Given the description of an element on the screen output the (x, y) to click on. 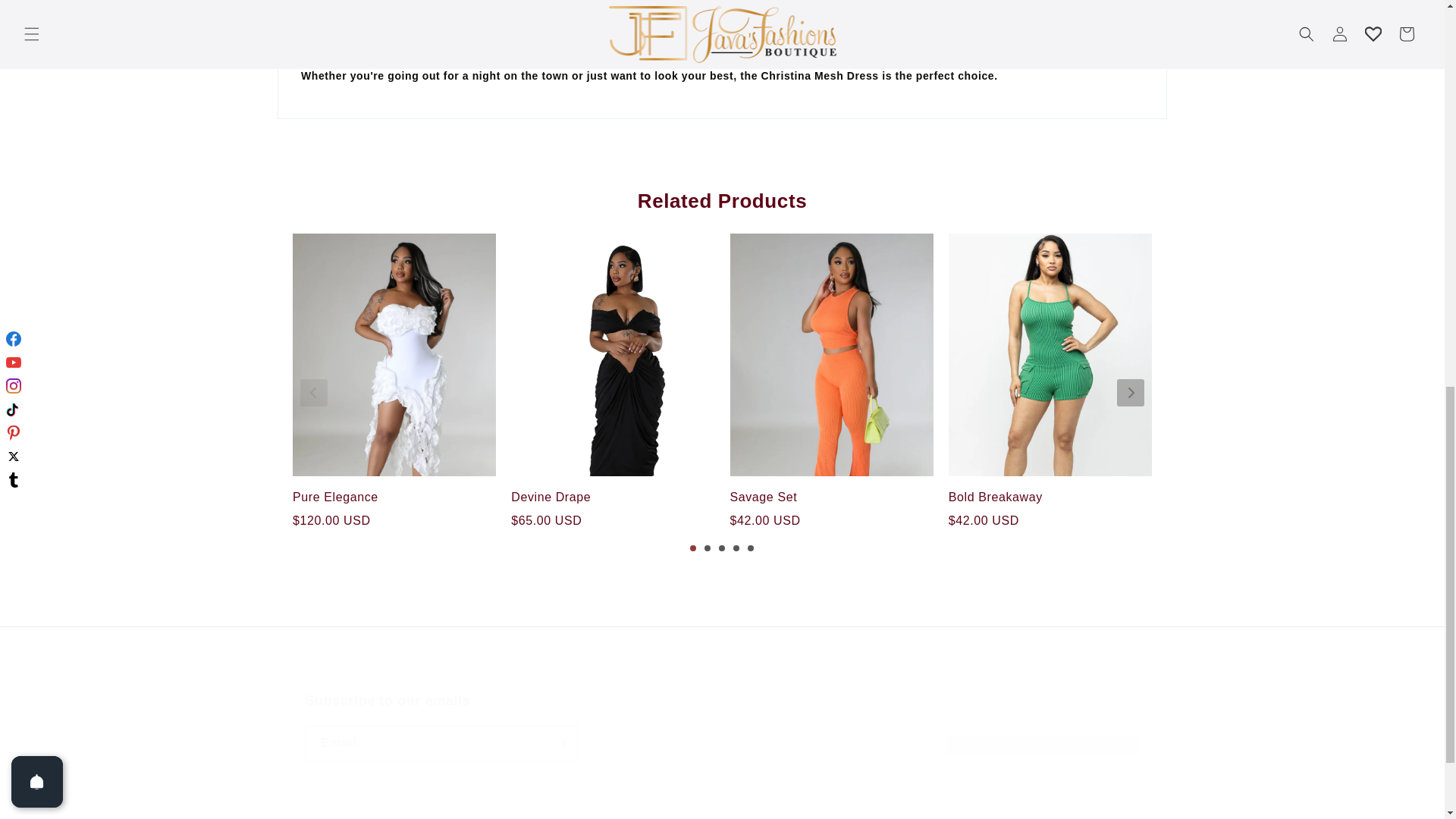
Devine Drape (612, 496)
Bold Breakaway (1050, 496)
Savage Set (831, 496)
Pure Elegance (721, 726)
